Given the description of an element on the screen output the (x, y) to click on. 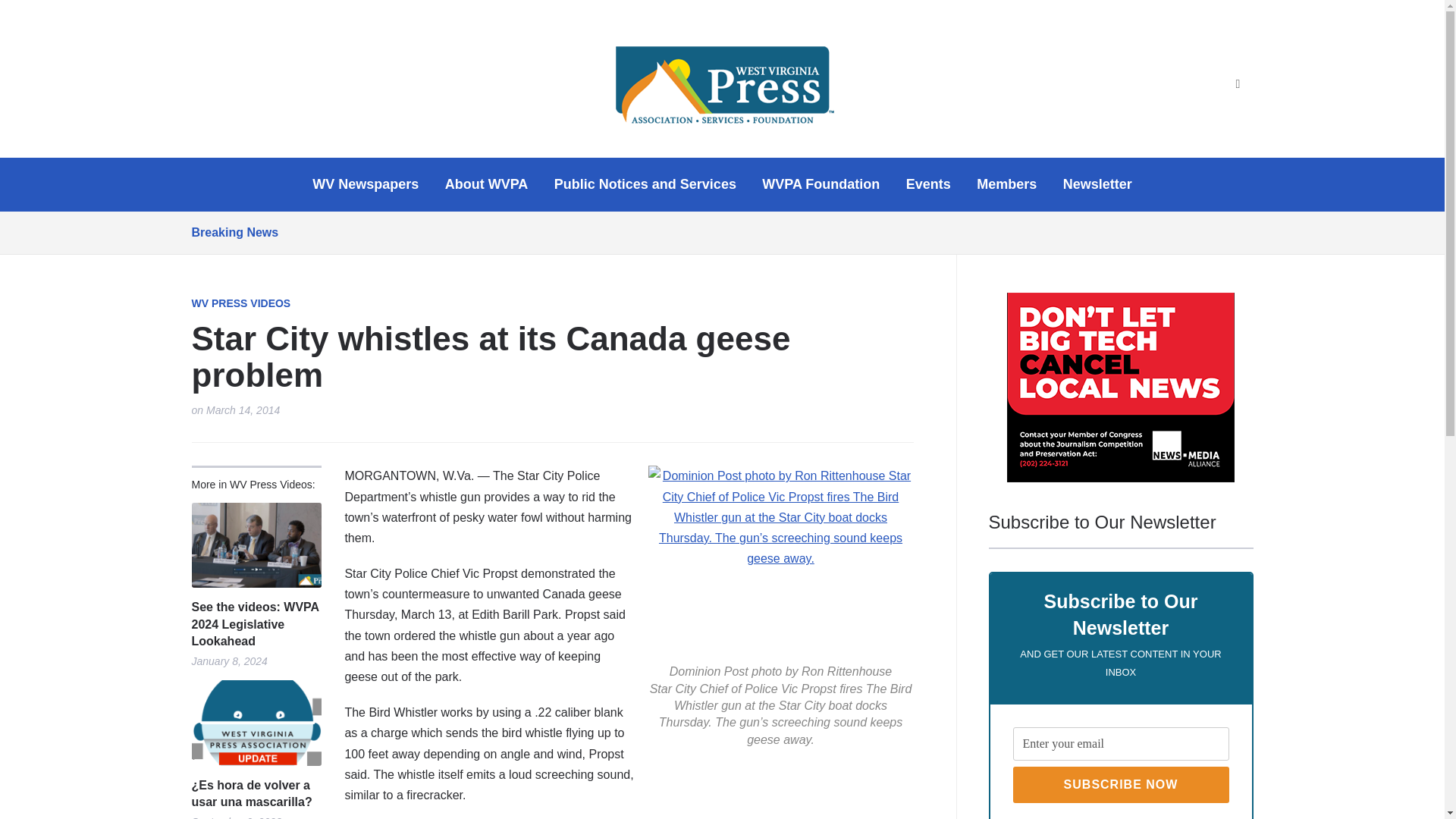
About WVPA (486, 184)
Subscribe Now (1120, 784)
WV Newspapers (366, 184)
Permalink to See the videos: WVPA 2024 Legislative Lookahead (255, 545)
Search (1237, 84)
Permalink to See the videos: WVPA 2024 Legislative Lookahead (255, 624)
Public Notices and Services (645, 184)
